Given the description of an element on the screen output the (x, y) to click on. 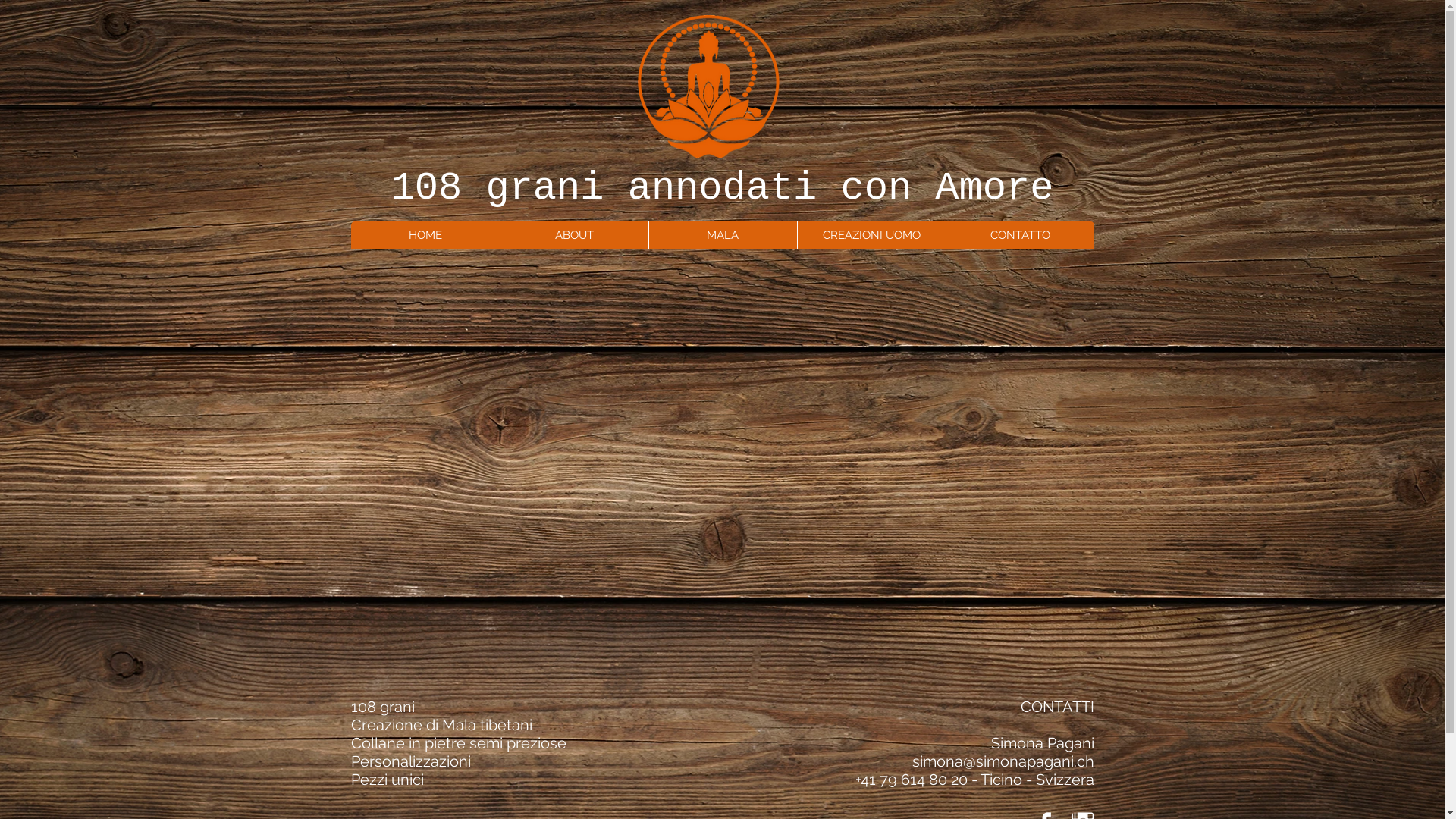
CREAZIONI UOMO Element type: text (870, 235)
CONTATTO Element type: text (1018, 235)
simona@simonapagani.ch Element type: text (1002, 761)
MALA Element type: text (721, 235)
HOME Element type: text (424, 235)
ABOUT Element type: text (572, 235)
